Given the description of an element on the screen output the (x, y) to click on. 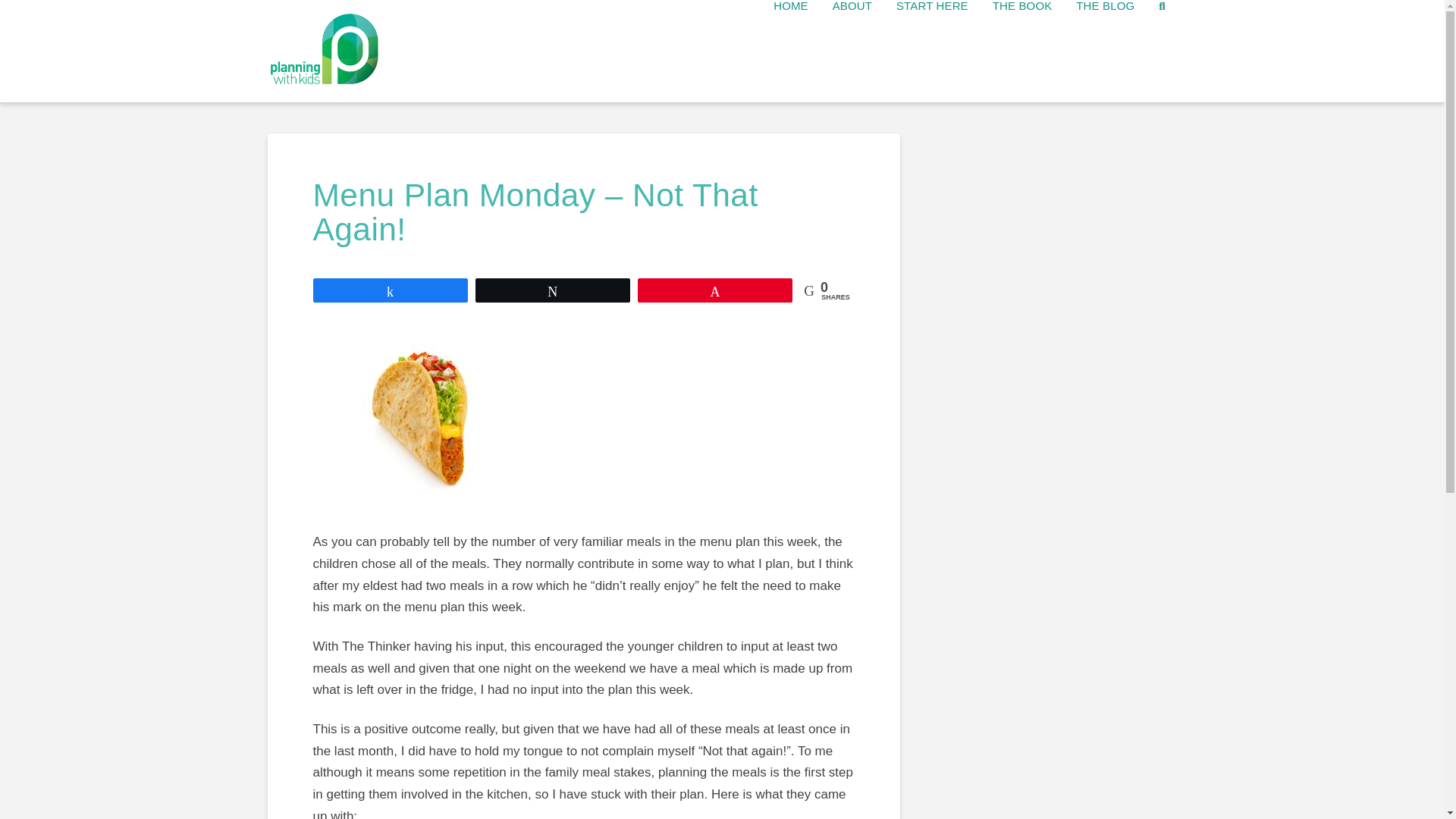
START HERE (931, 51)
Tacos (417, 416)
